Given the description of an element on the screen output the (x, y) to click on. 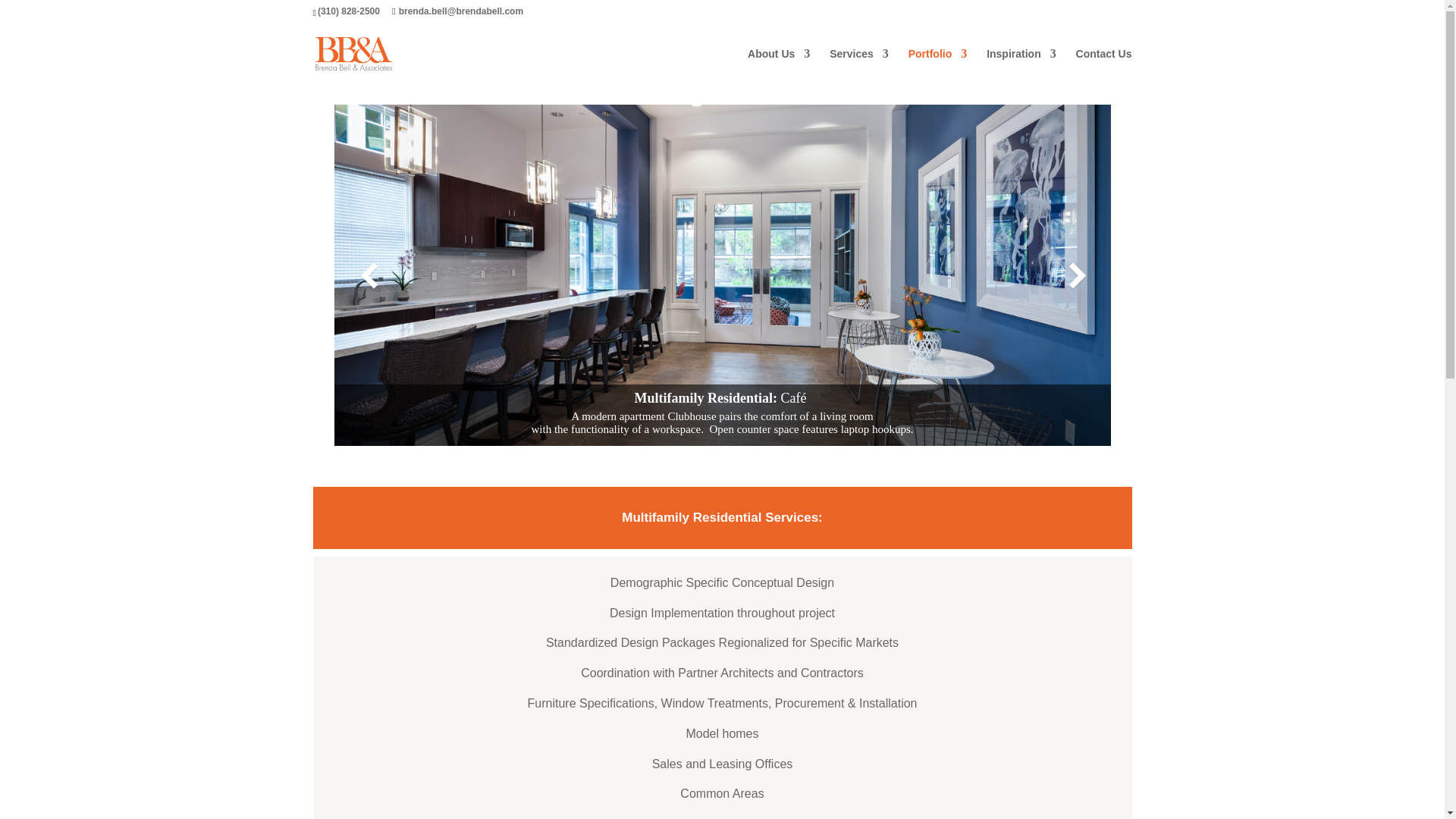
Portfolio (938, 66)
About Us (778, 66)
Inspiration (1022, 66)
Contact Us (1103, 66)
Services (858, 66)
